Given the description of an element on the screen output the (x, y) to click on. 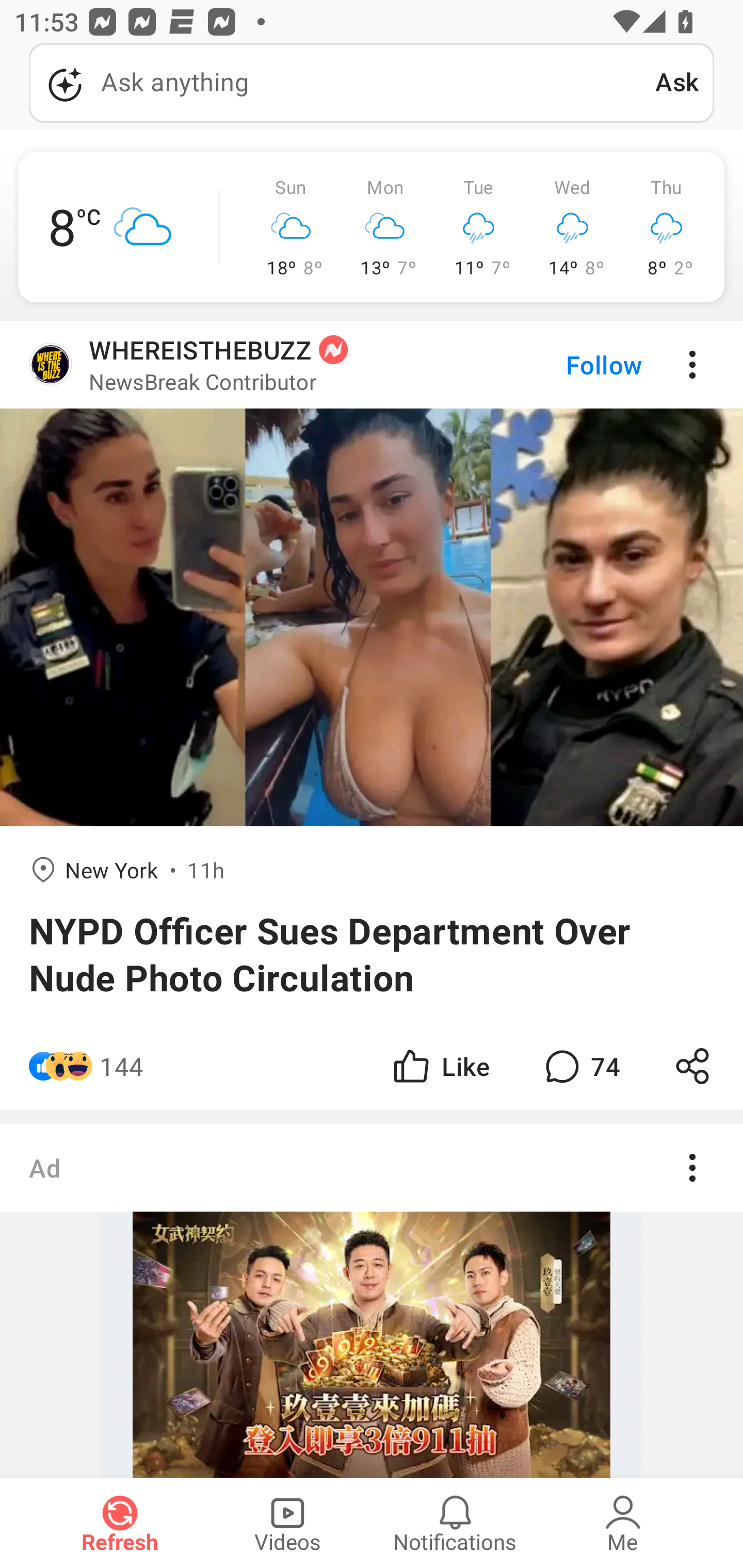
Ask anything (341, 82)
Sun 18º 8º (290, 227)
Mon 13º 7º (384, 227)
Tue 11º 7º (478, 227)
Wed 14º 8º (572, 227)
Thu 8º 2º (666, 227)
WHEREISTHEBUZZ NewsBreak Contributor Follow (371, 365)
Follow (569, 365)
144 (121, 1066)
Like (439, 1066)
74 (579, 1066)
Notifications (455, 1522)
Me (622, 1522)
